Given the description of an element on the screen output the (x, y) to click on. 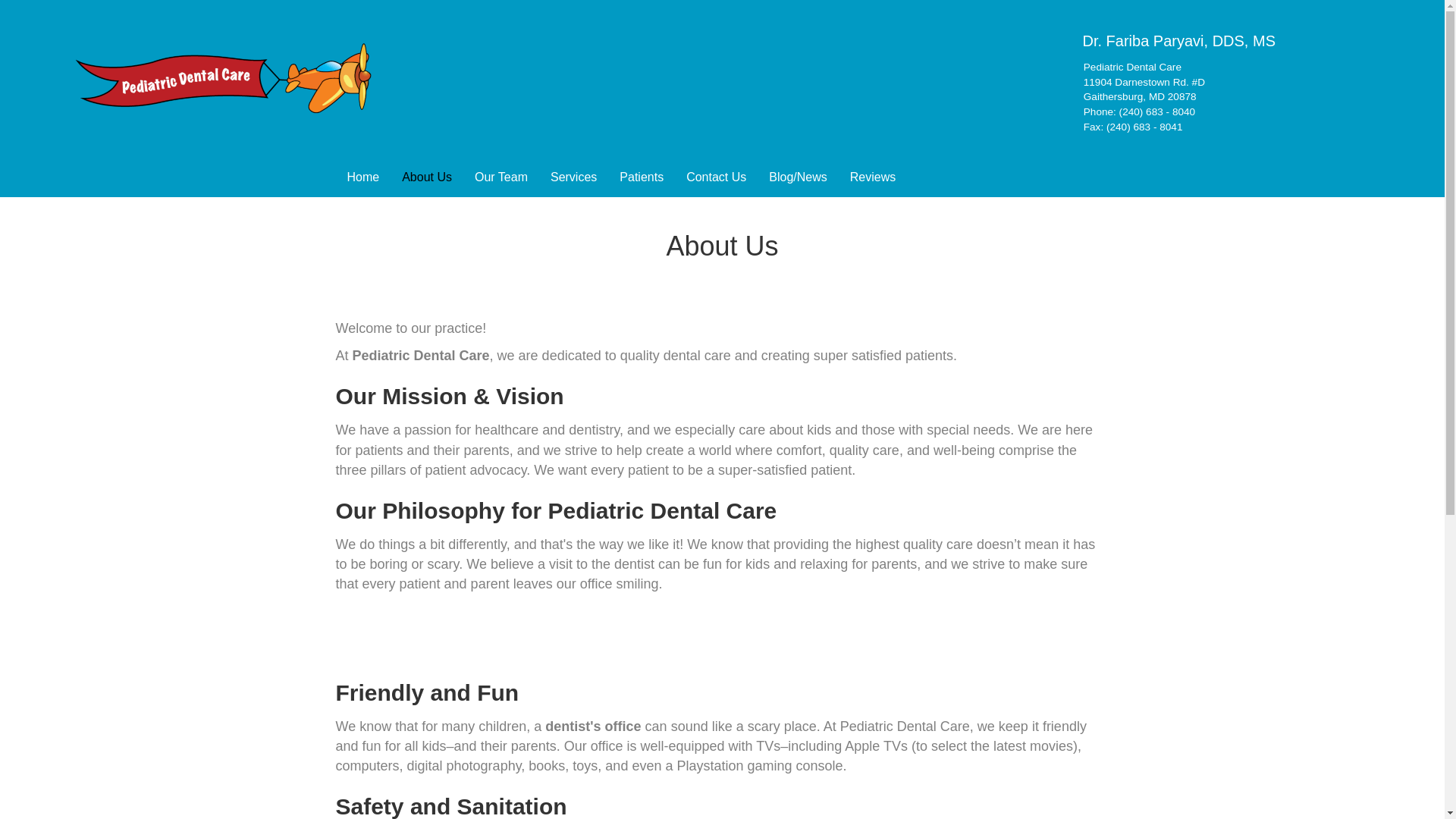
Services (573, 177)
Our Team (500, 177)
Dr. Fariba Paryavi, DDS, MS (1178, 40)
About Us (426, 177)
Patients (641, 177)
Reviews (872, 177)
Home (362, 177)
Contact Us (716, 177)
